Given the description of an element on the screen output the (x, y) to click on. 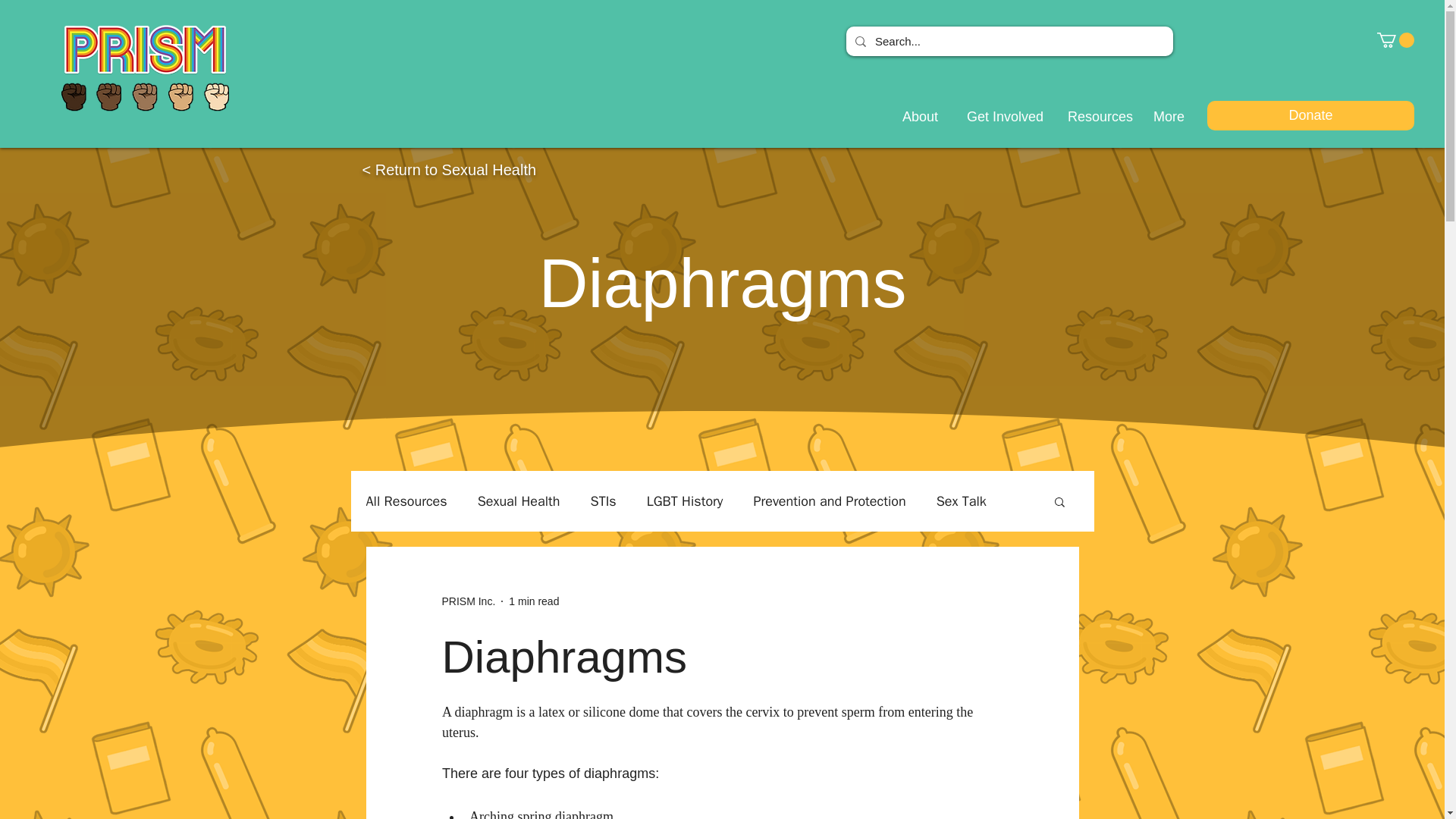
Sexual Health (518, 501)
All Resources (405, 501)
1 min read (533, 600)
Resources (1095, 116)
STIs (603, 501)
Get Involved (997, 116)
Donate (1310, 115)
Prevention and Protection (828, 501)
LGBT History (684, 501)
Sex Talk (961, 501)
